Given the description of an element on the screen output the (x, y) to click on. 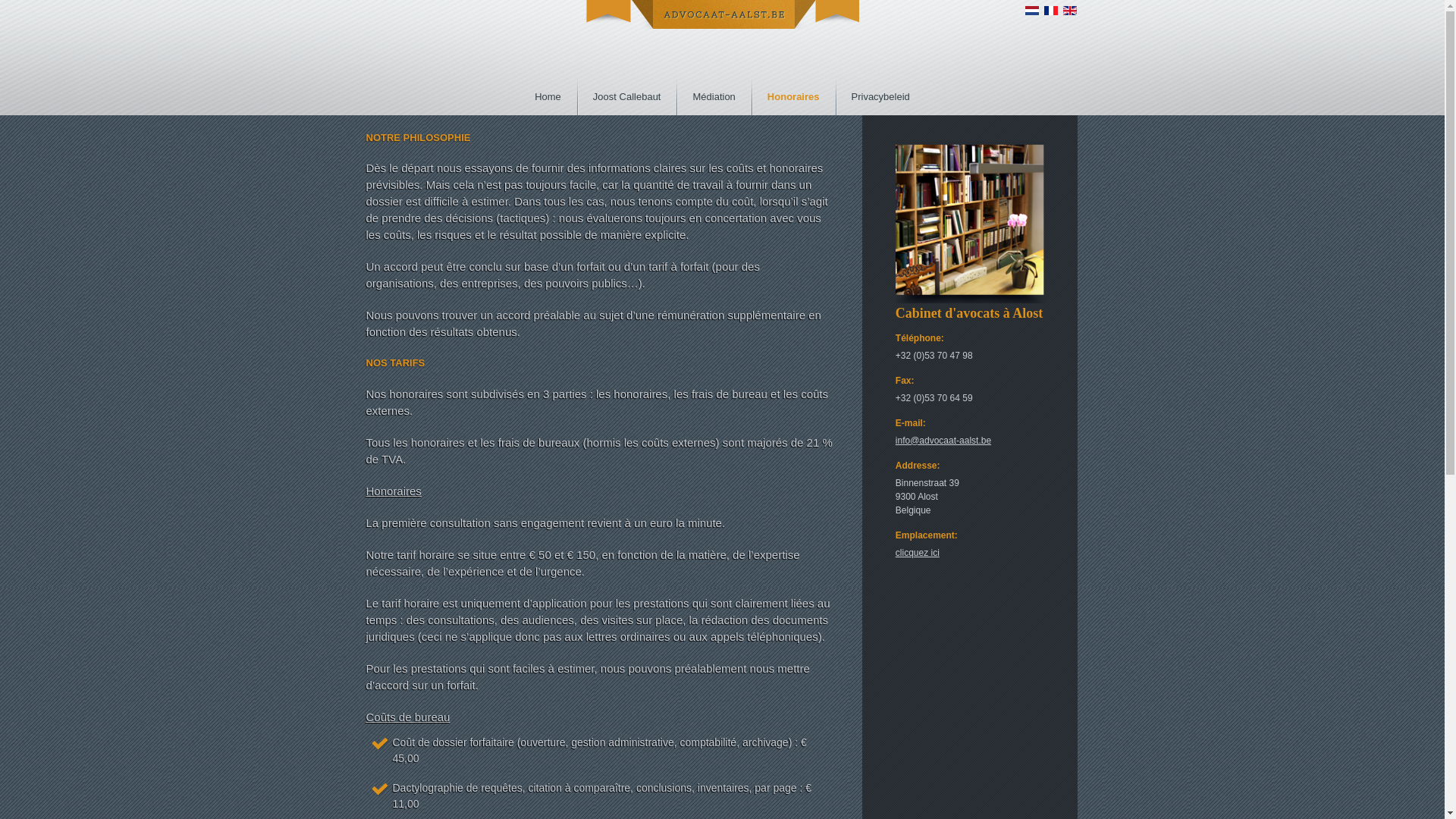
Privacybeleid Element type: text (880, 95)
English (UK) Element type: hover (1069, 10)
Nederlands (NL) Element type: hover (1031, 10)
Honoraires Element type: text (793, 95)
English (UK) Element type: text (1070, 13)
info@advocaat-aalst.be Element type: text (943, 440)
Nederlands (NL) Element type: text (1032, 13)
French Element type: hover (1050, 10)
Home Element type: text (547, 95)
French Element type: text (1051, 13)
clicquez ici Element type: text (917, 552)
Joost Callebaut Element type: text (627, 95)
